Given the description of an element on the screen output the (x, y) to click on. 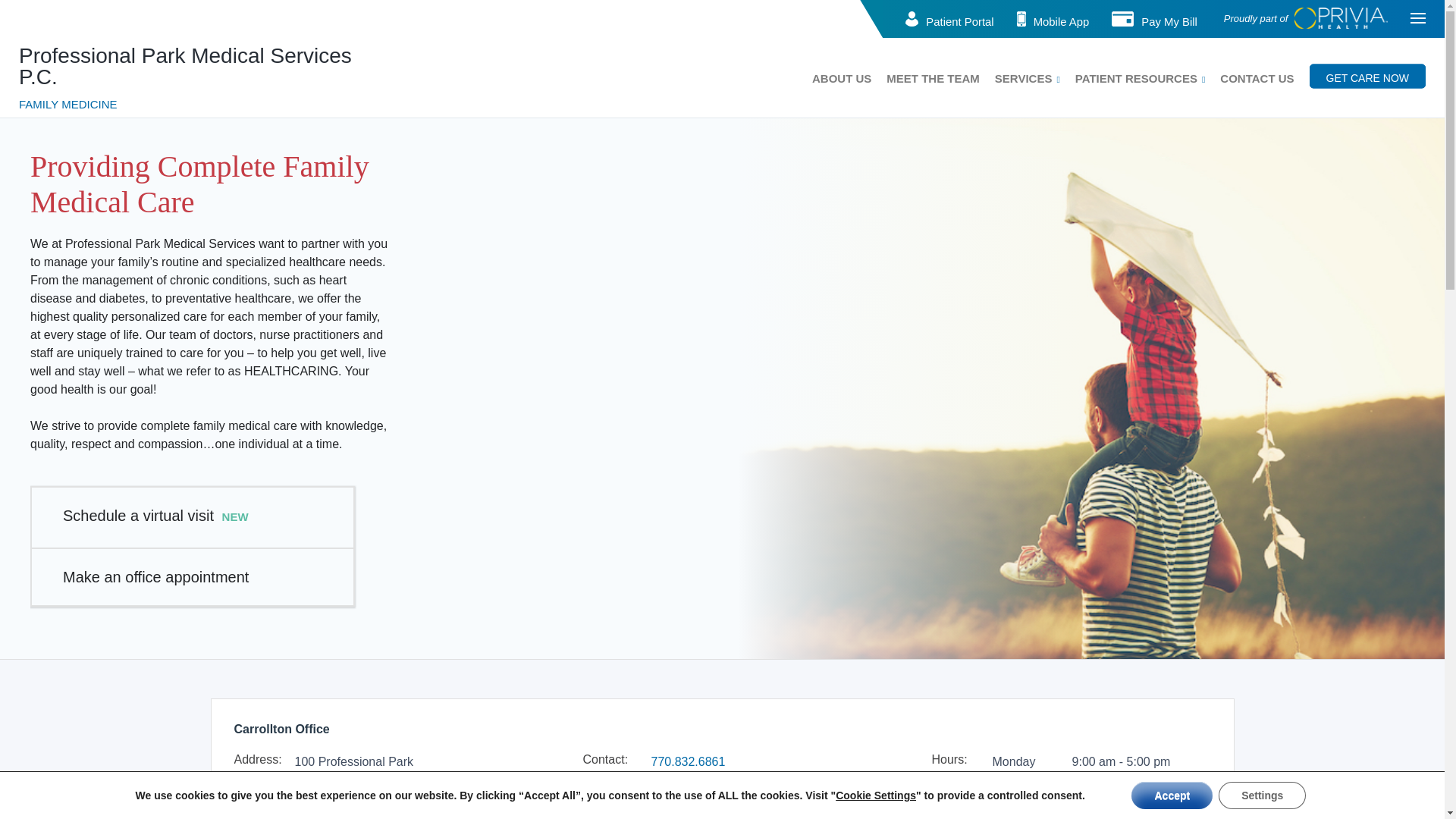
MEET THE TEAM (932, 77)
ABOUT US (841, 77)
Professional Park Medical Services P.C. (185, 66)
CONTACT US (1257, 77)
GET CARE NOW (1366, 75)
PATIENT RESOURCES (1135, 77)
Mobile App (1061, 21)
Patient Portal (959, 21)
SERVICES (1023, 77)
Pay My Bill (1168, 21)
